Given the description of an element on the screen output the (x, y) to click on. 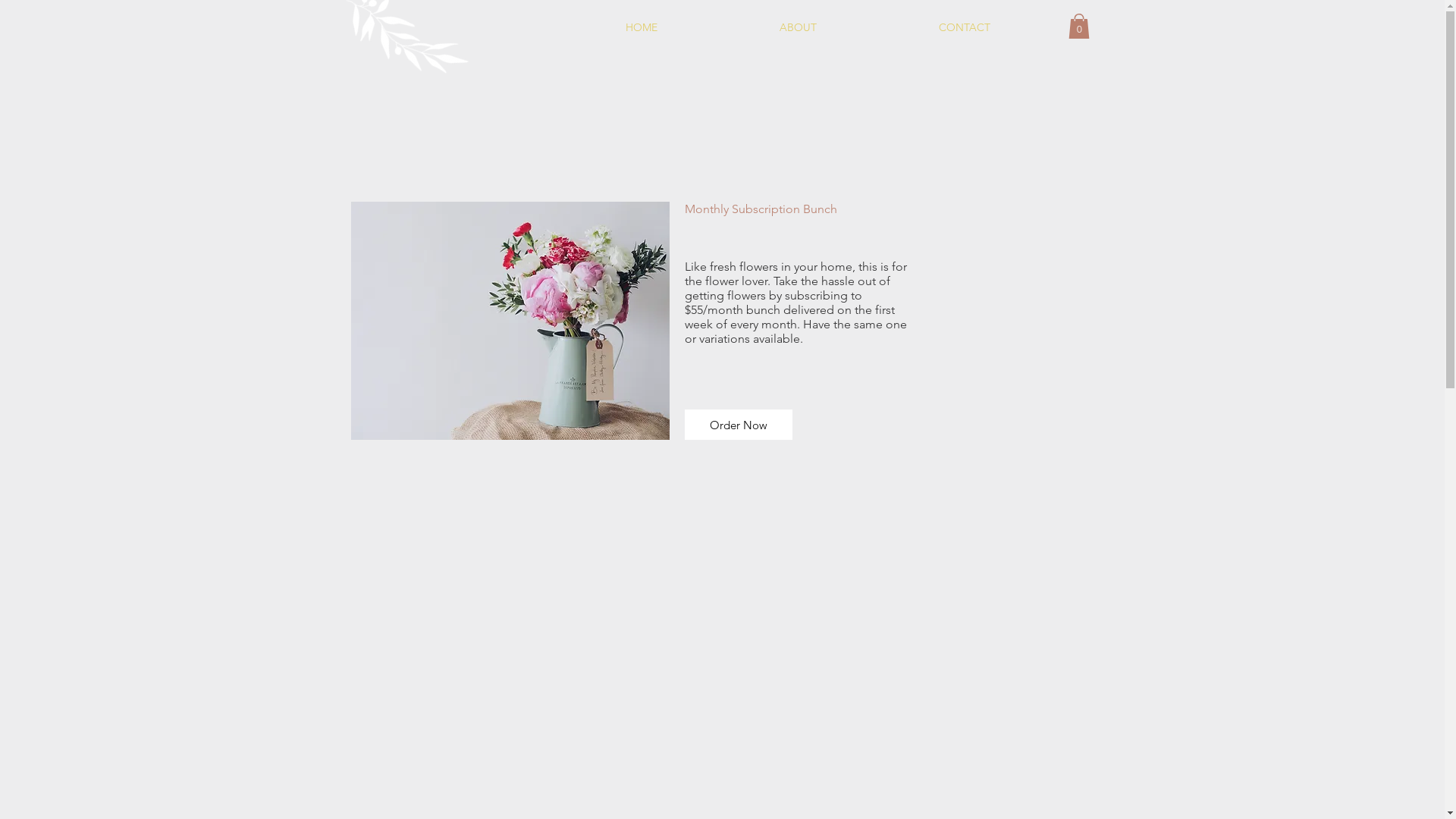
0 Element type: text (1077, 25)
Order Now Element type: text (737, 424)
ABOUT Element type: text (798, 27)
CONTACT Element type: text (964, 27)
HOME Element type: text (641, 27)
